Given the description of an element on the screen output the (x, y) to click on. 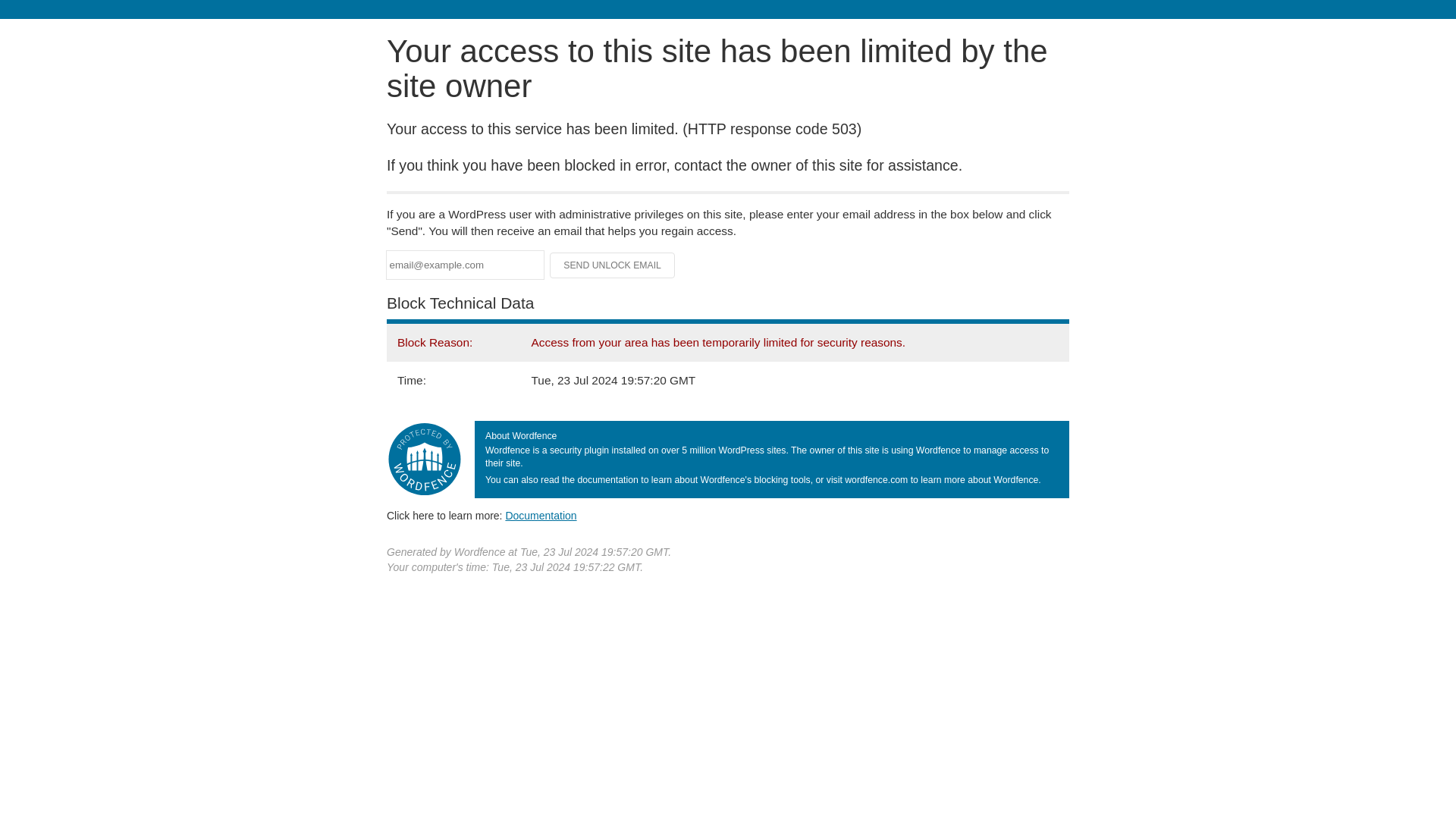
Send Unlock Email (612, 265)
Documentation (540, 515)
Send Unlock Email (612, 265)
